Given the description of an element on the screen output the (x, y) to click on. 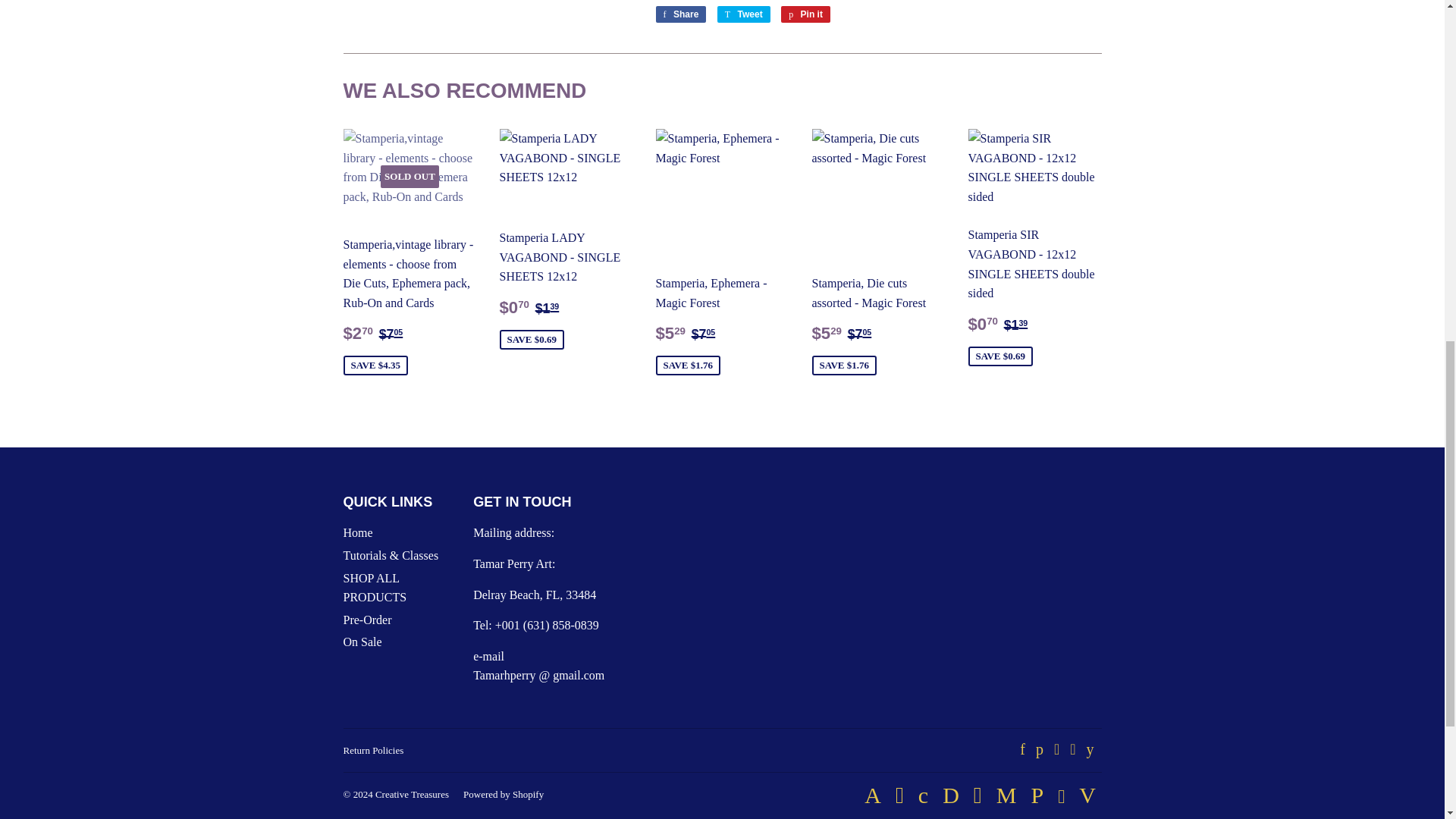
Home (804, 13)
Share on Facebook (357, 532)
Pin on Pinterest (743, 13)
SHOP ALL PRODUCTS (680, 13)
Tweet on Twitter (804, 13)
